Given the description of an element on the screen output the (x, y) to click on. 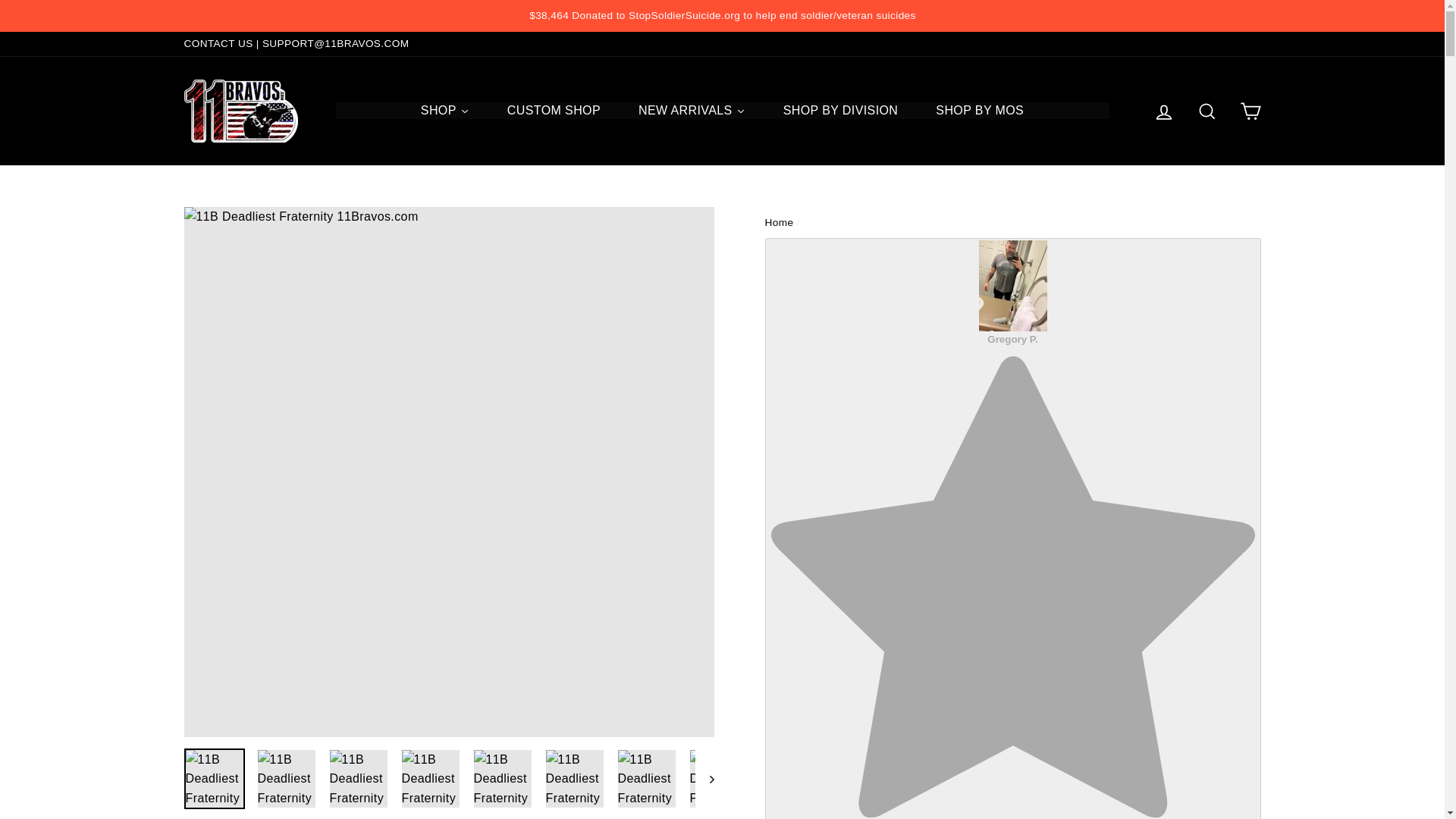
Back to the frontpage (778, 222)
